Given the description of an element on the screen output the (x, y) to click on. 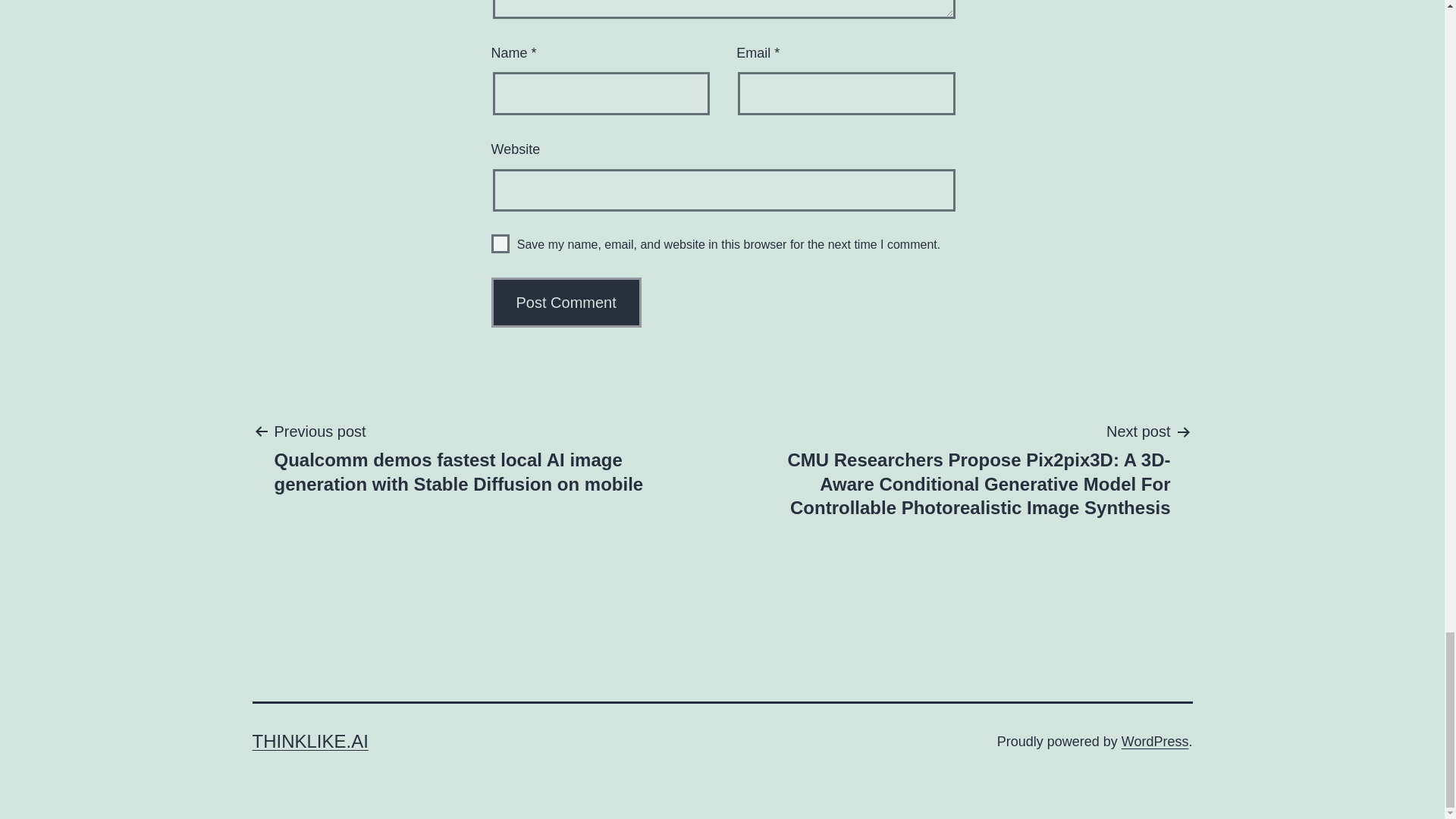
WordPress (1155, 741)
THINKLIKE.AI (309, 741)
Post Comment (567, 302)
yes (500, 243)
Post Comment (567, 302)
